Given the description of an element on the screen output the (x, y) to click on. 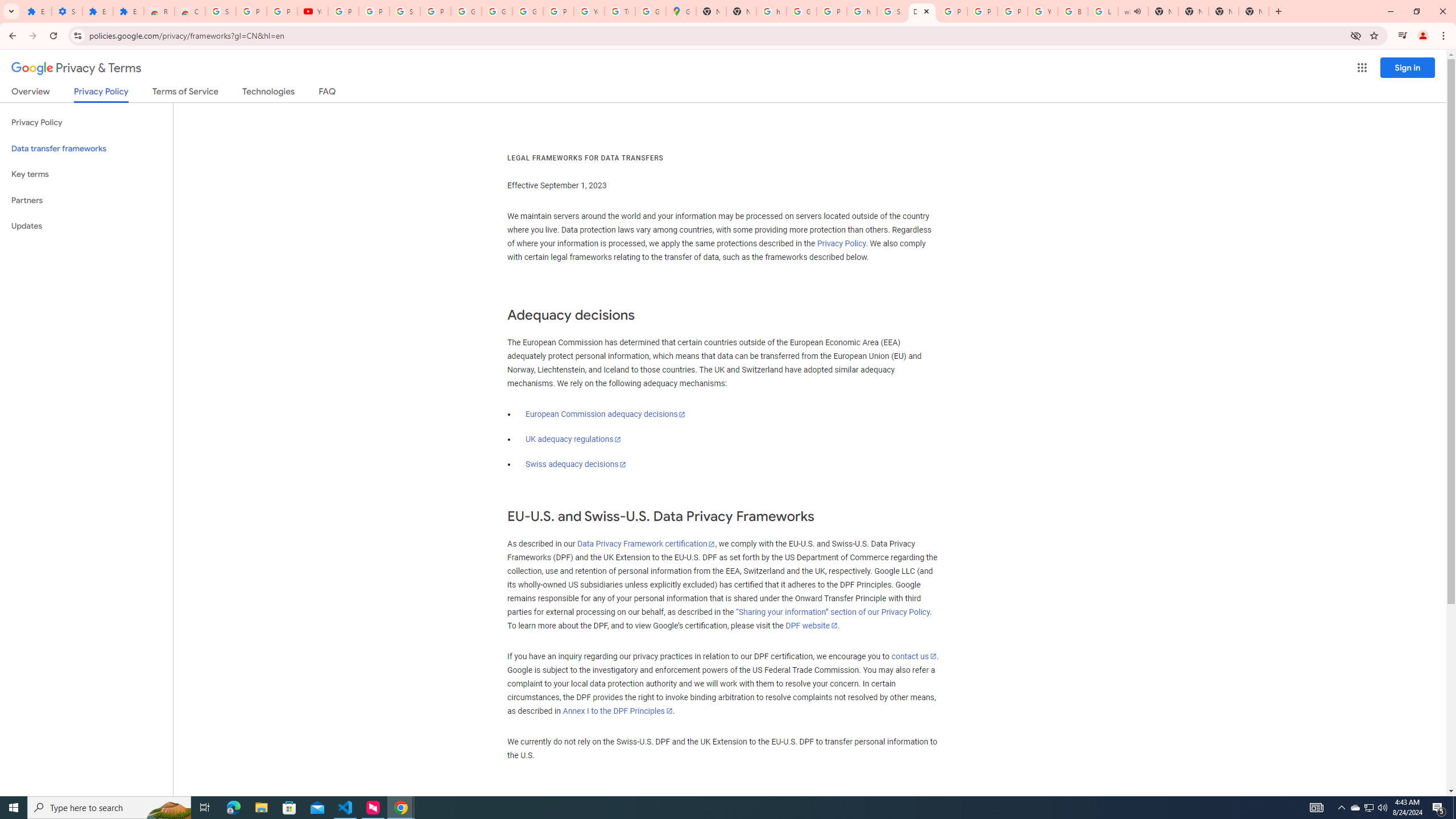
Extensions (36, 11)
YouTube (312, 11)
https://scholar.google.com/ (861, 11)
Reviews: Helix Fruit Jump Arcade Game (158, 11)
New Tab (1253, 11)
UK adequacy regulations (573, 439)
Extensions (127, 11)
